Given the description of an element on the screen output the (x, y) to click on. 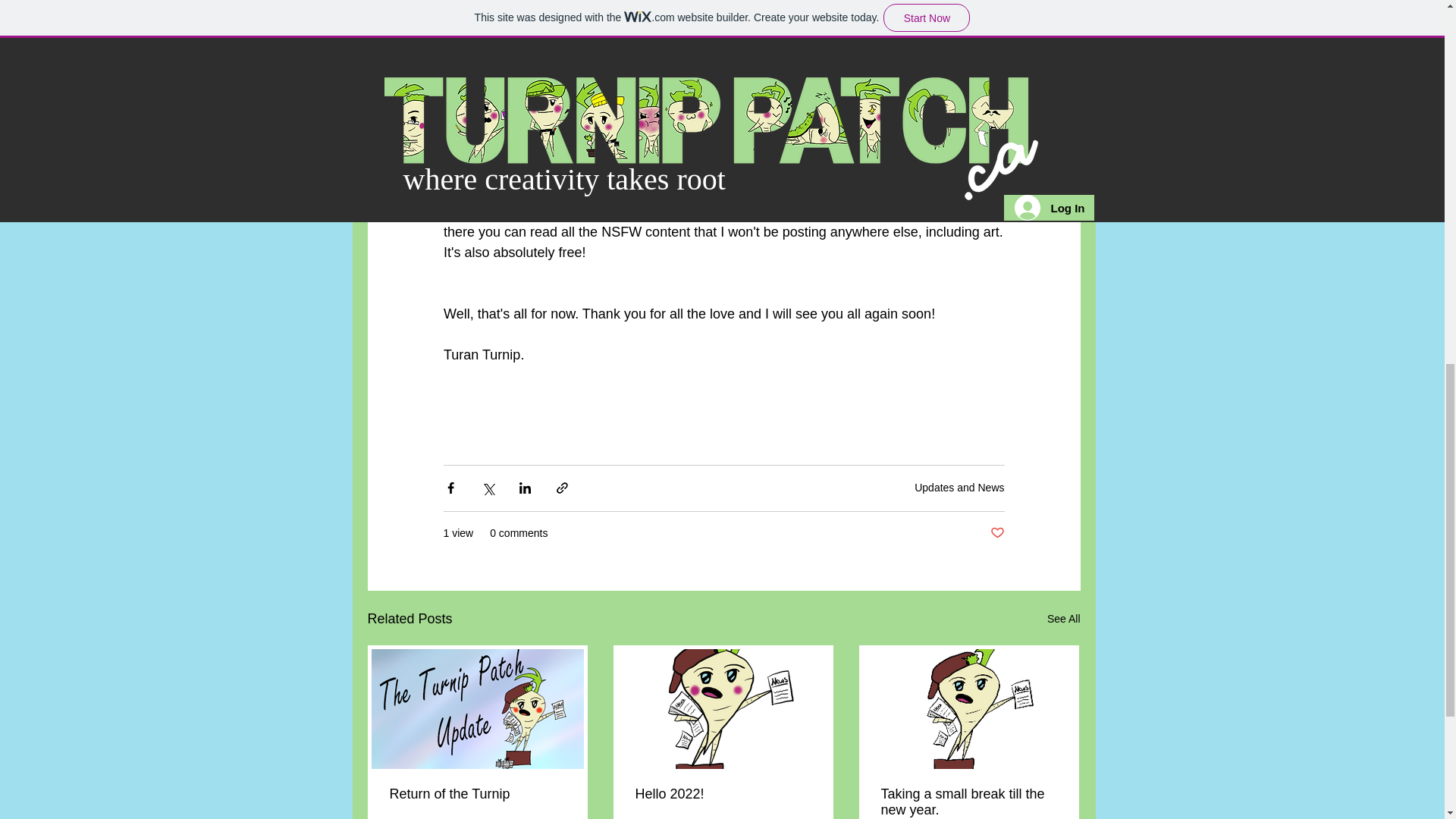
Taking a small break till the new year. (968, 802)
Return of the Turnip (478, 794)
See All (1063, 618)
Updates and News (959, 487)
Turnip Patch (624, 150)
Raga-Squad (667, 211)
Hello 2022! (722, 794)
Post not marked as liked (997, 533)
